Given the description of an element on the screen output the (x, y) to click on. 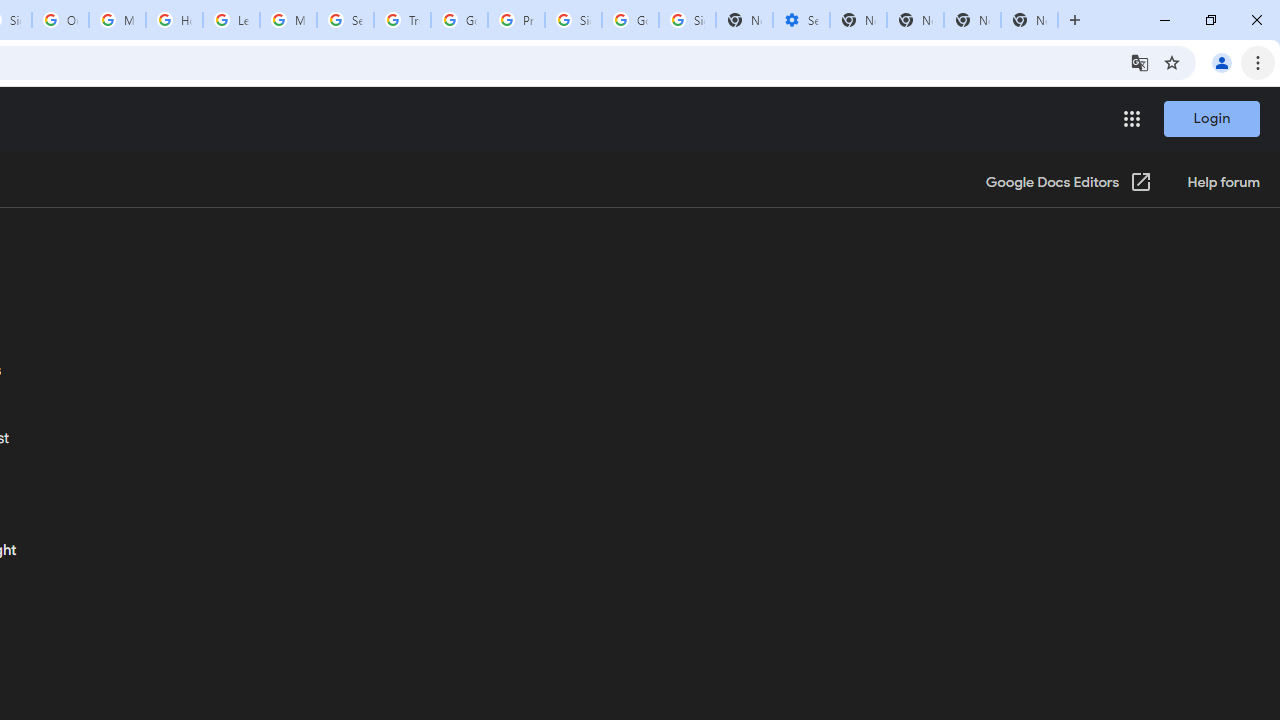
Google Docs Editors (Opens in new window) (1069, 183)
Help forum (1222, 183)
Login (1211, 118)
Search our Doodle Library Collection - Google Doodles (345, 20)
